Given the description of an element on the screen output the (x, y) to click on. 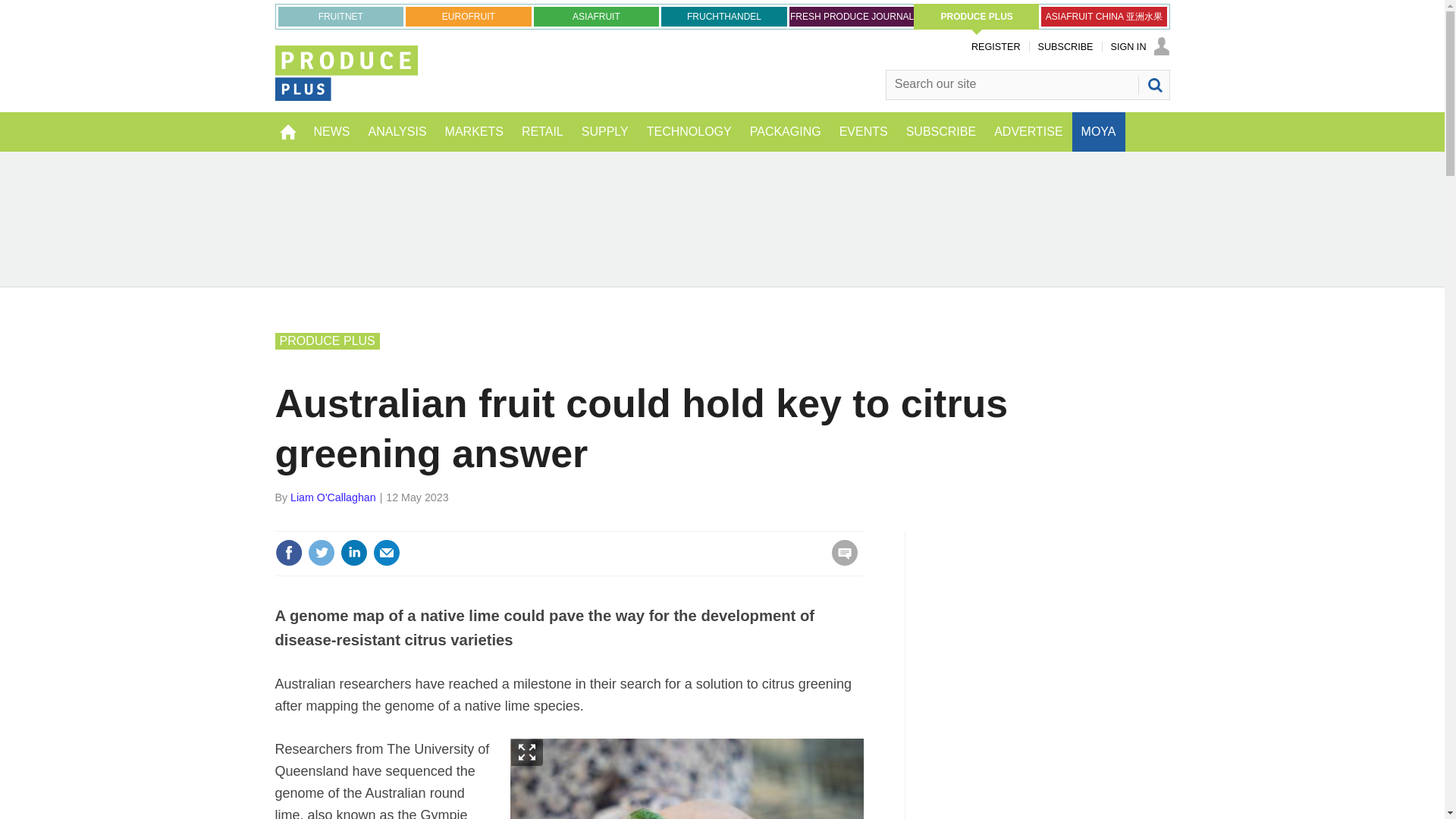
SEARCH (1153, 84)
EUROFRUIT (468, 16)
FRESH PRODUCE JOURNAL (852, 16)
ANALYSIS (397, 131)
FRUITNET (340, 16)
No comments (840, 561)
Share this on Twitter (320, 552)
Share this on Facebook (288, 552)
REGISTER (995, 46)
SIGN IN (1139, 46)
SUBSCRIBE (1065, 46)
NEWS (331, 131)
FRUCHTHANDEL (724, 16)
Share this on Linked in (352, 552)
ASIAFRUIT (596, 16)
